Given the description of an element on the screen output the (x, y) to click on. 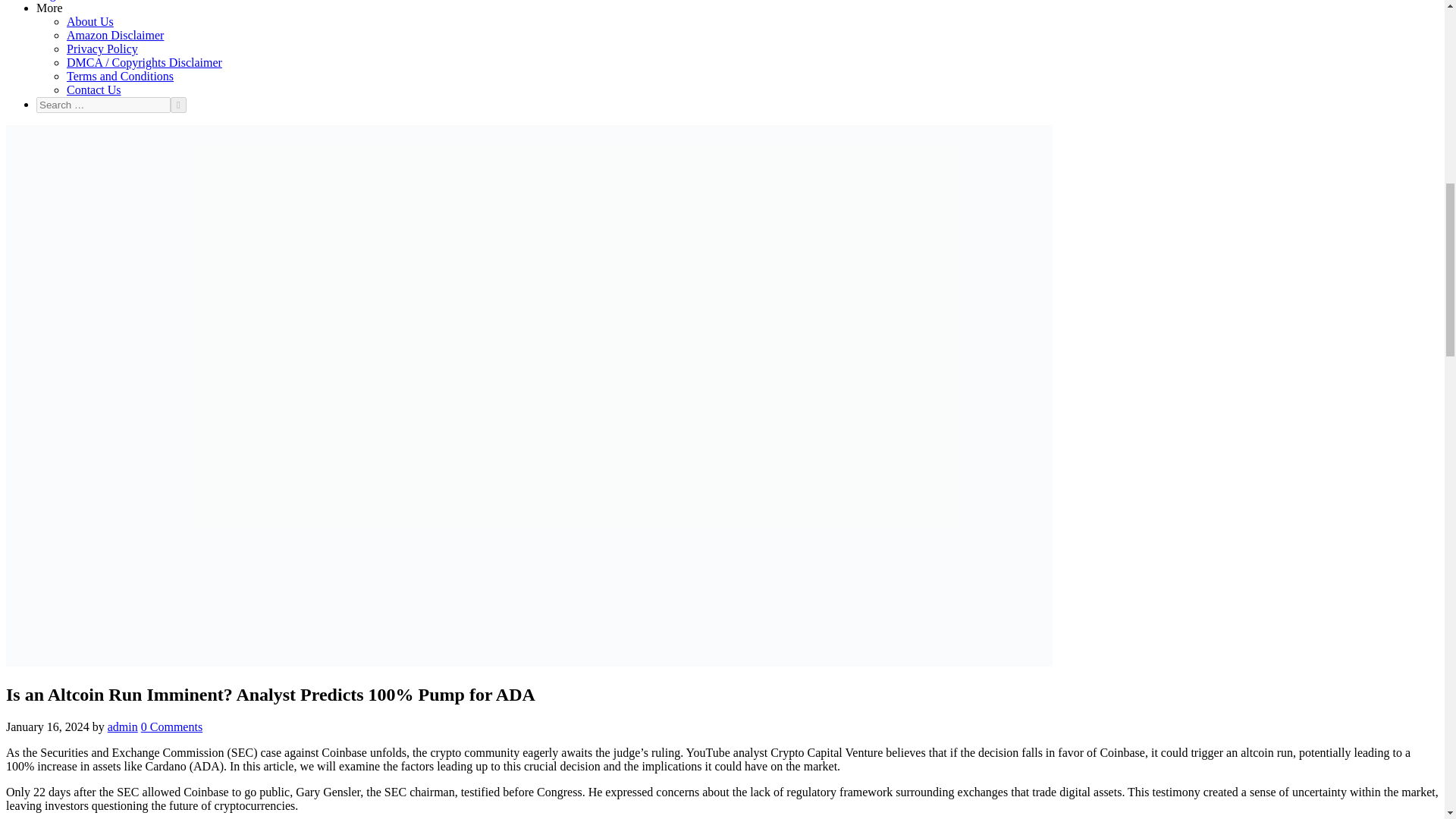
Amazon Disclaimer (114, 34)
Regulation (62, 0)
Privacy Policy (102, 48)
More (49, 7)
About Us (89, 21)
